Given the description of an element on the screen output the (x, y) to click on. 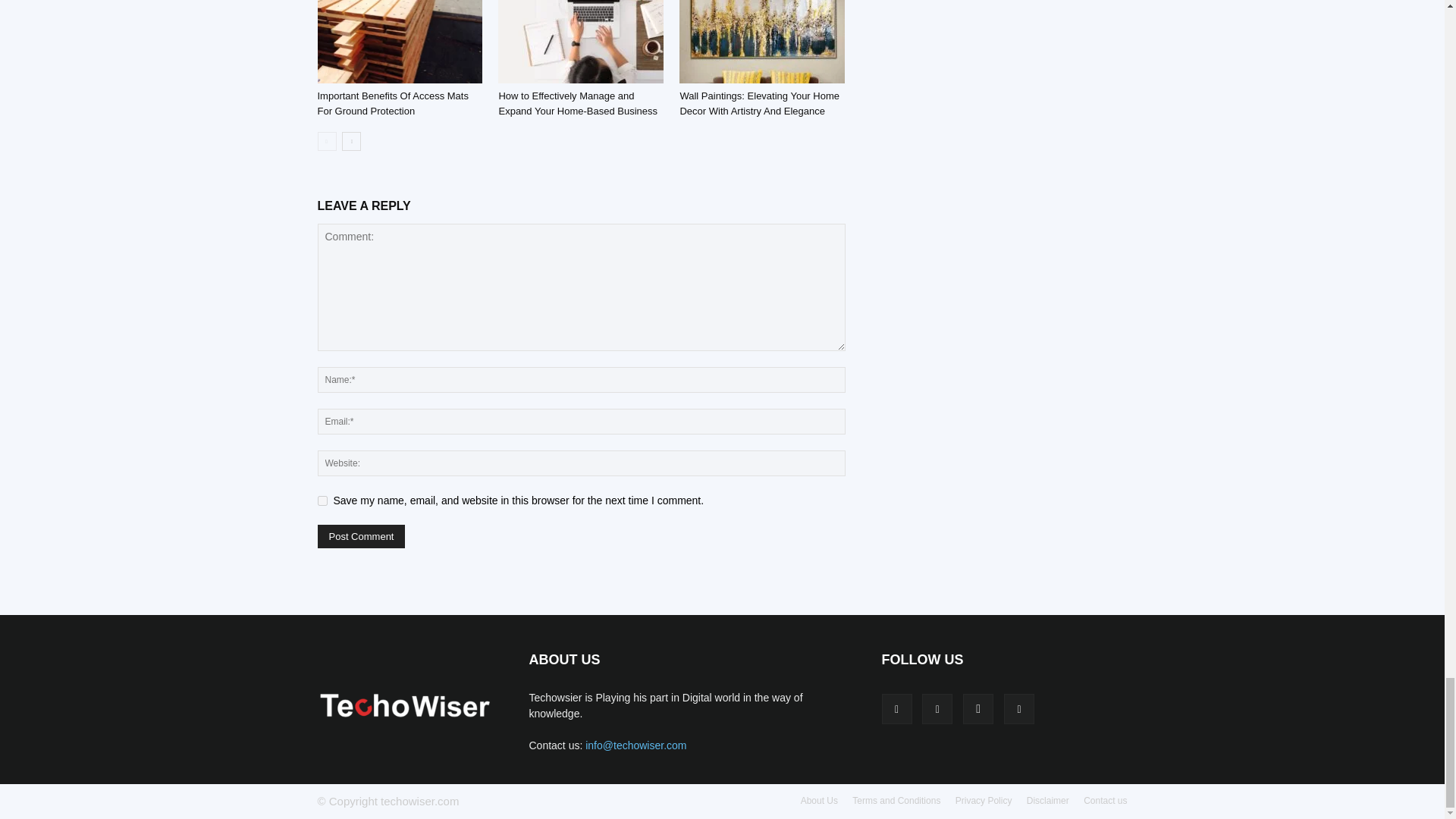
yes (321, 501)
Post Comment (360, 535)
